Given the description of an element on the screen output the (x, y) to click on. 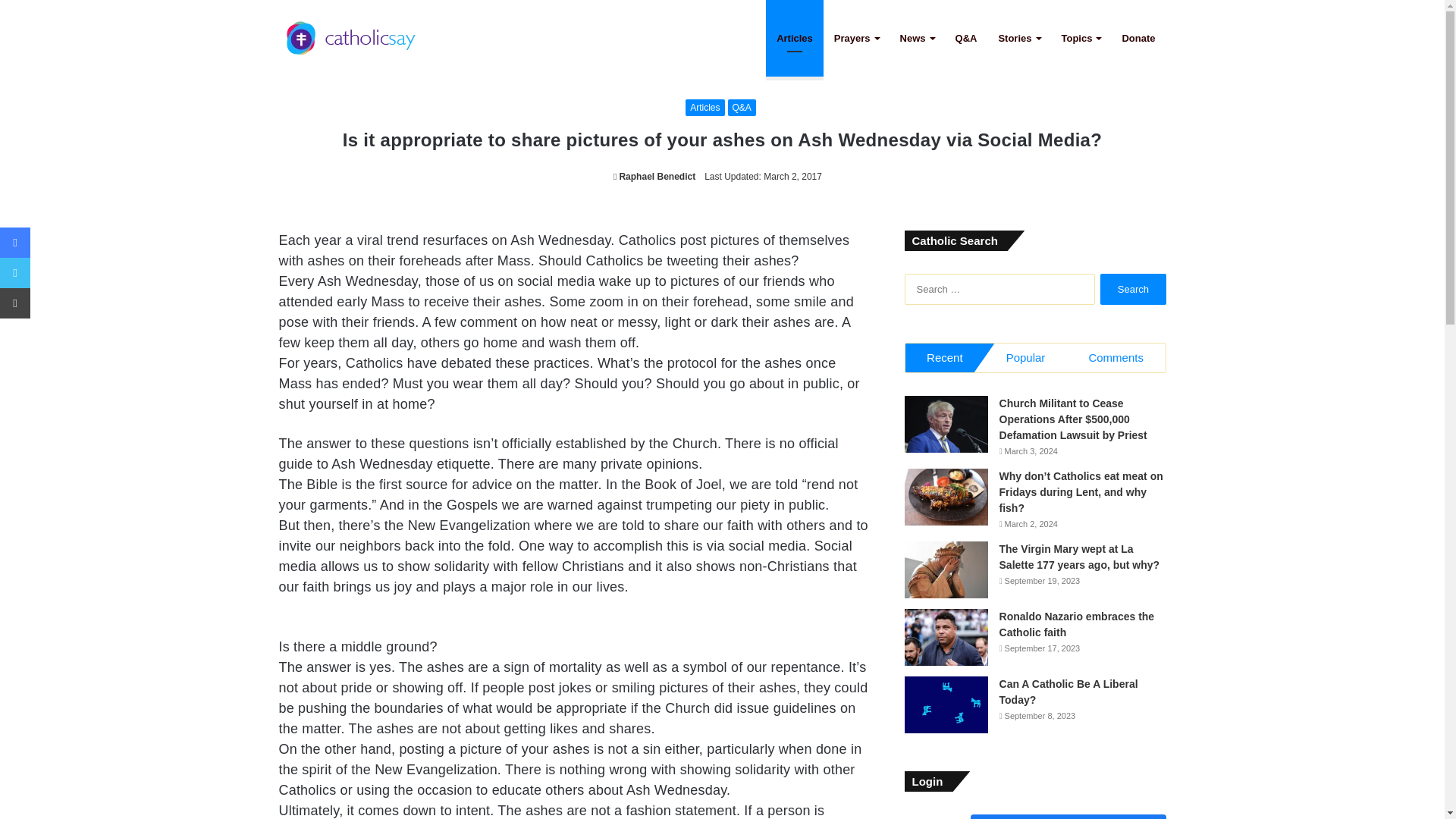
Raphael Benedict (653, 176)
Print (15, 303)
Catholic Say (351, 38)
Twitter (15, 272)
Raphael Benedict (653, 176)
Search (1133, 288)
Search (1133, 288)
Facebook (15, 242)
Articles (704, 107)
